Given the description of an element on the screen output the (x, y) to click on. 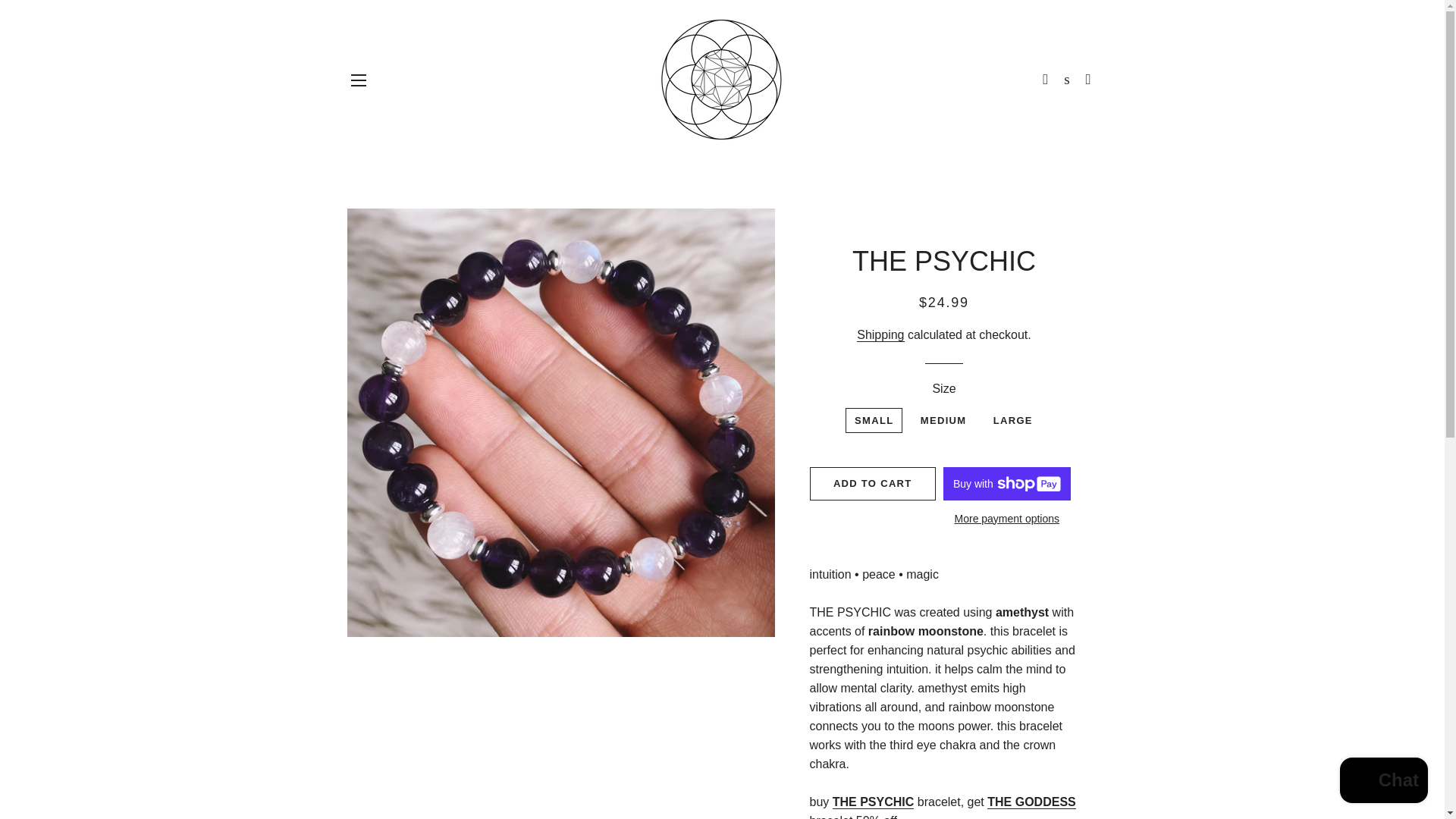
Shopify online store chat (1383, 781)
